Given the description of an element on the screen output the (x, y) to click on. 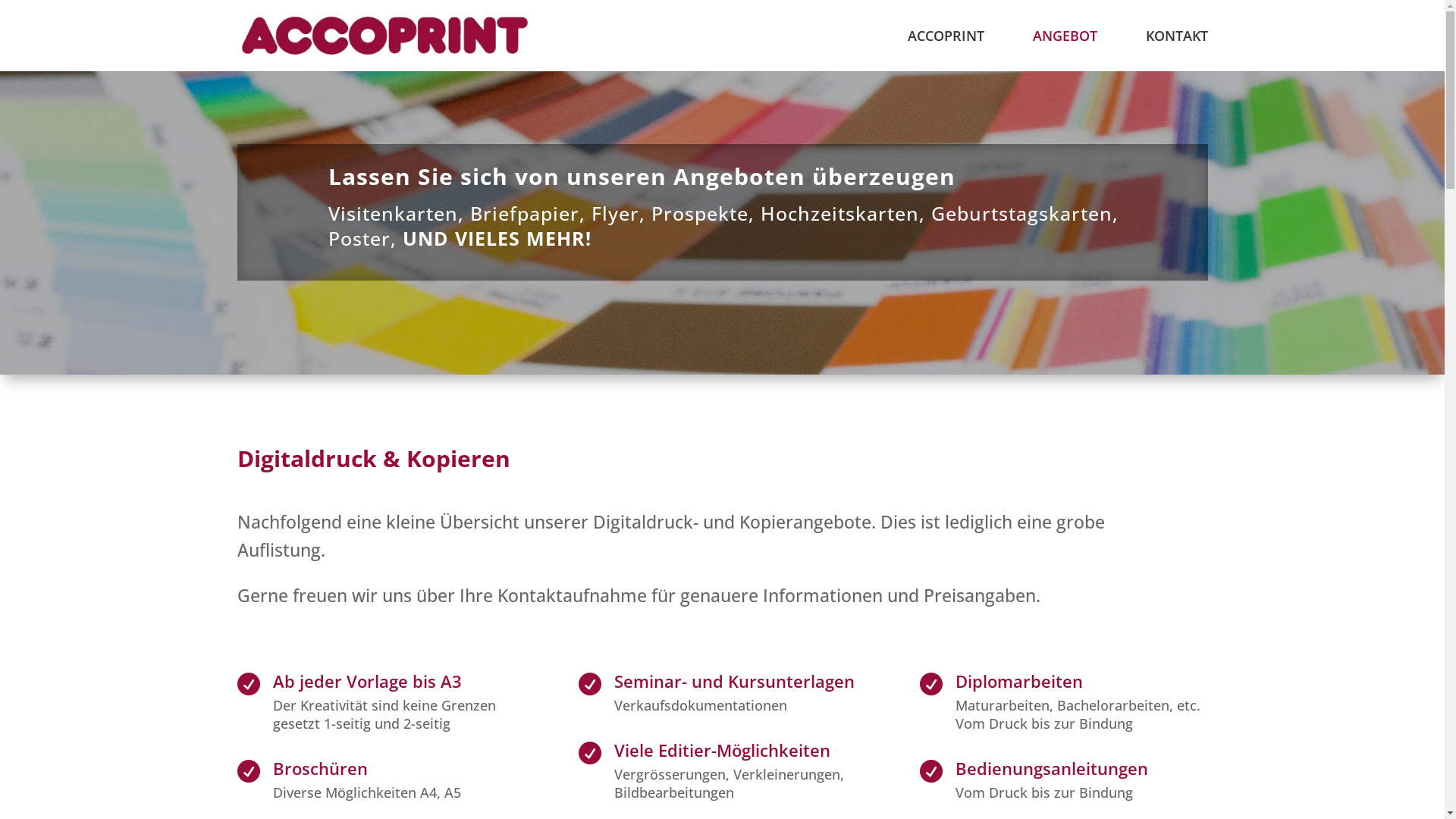
ANGEBOT Element type: text (1064, 50)
KONTAKT Element type: text (1176, 50)
ACCOPRINT Element type: text (944, 50)
